Given the description of an element on the screen output the (x, y) to click on. 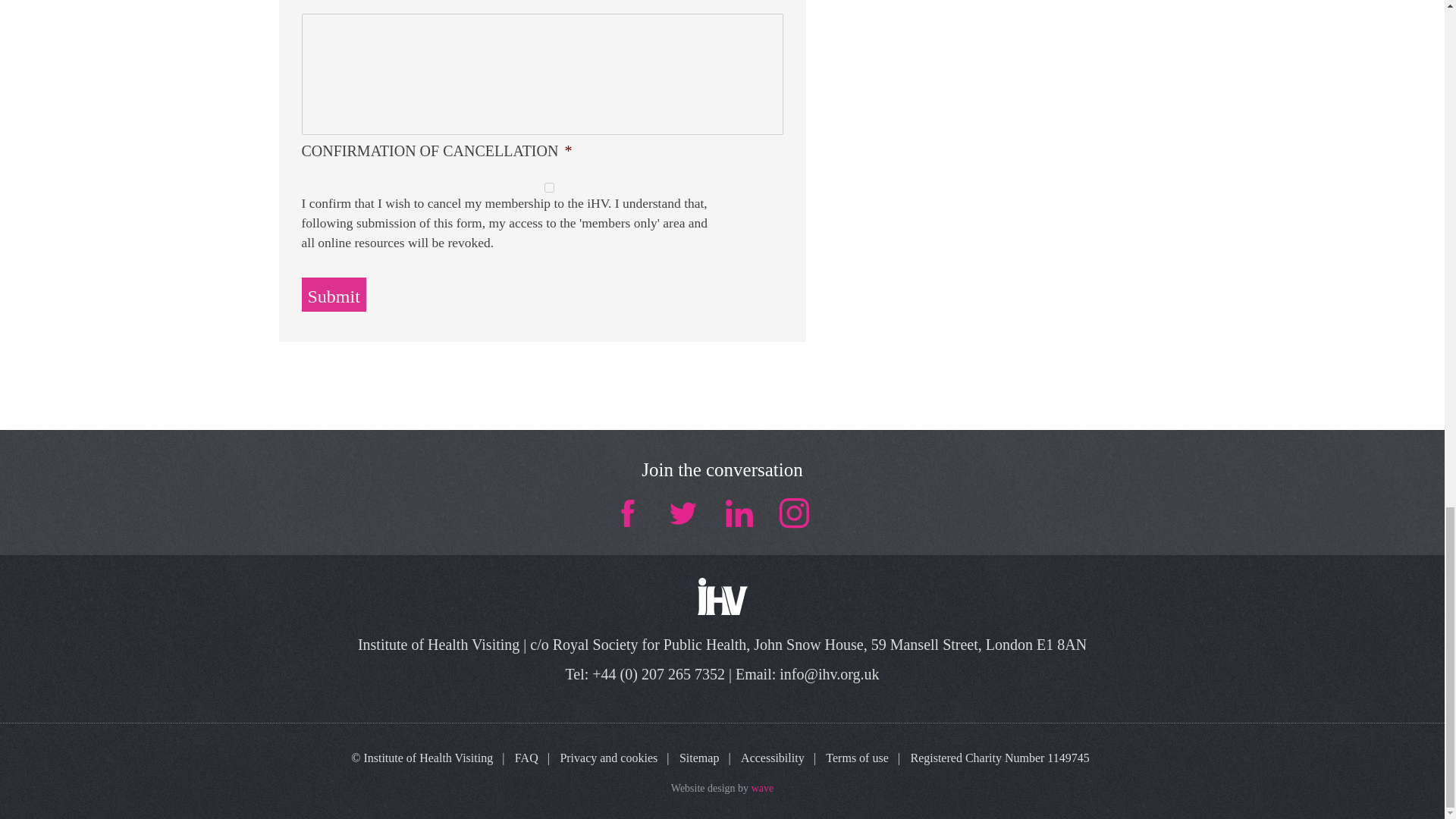
Submit (333, 294)
